Given the description of an element on the screen output the (x, y) to click on. 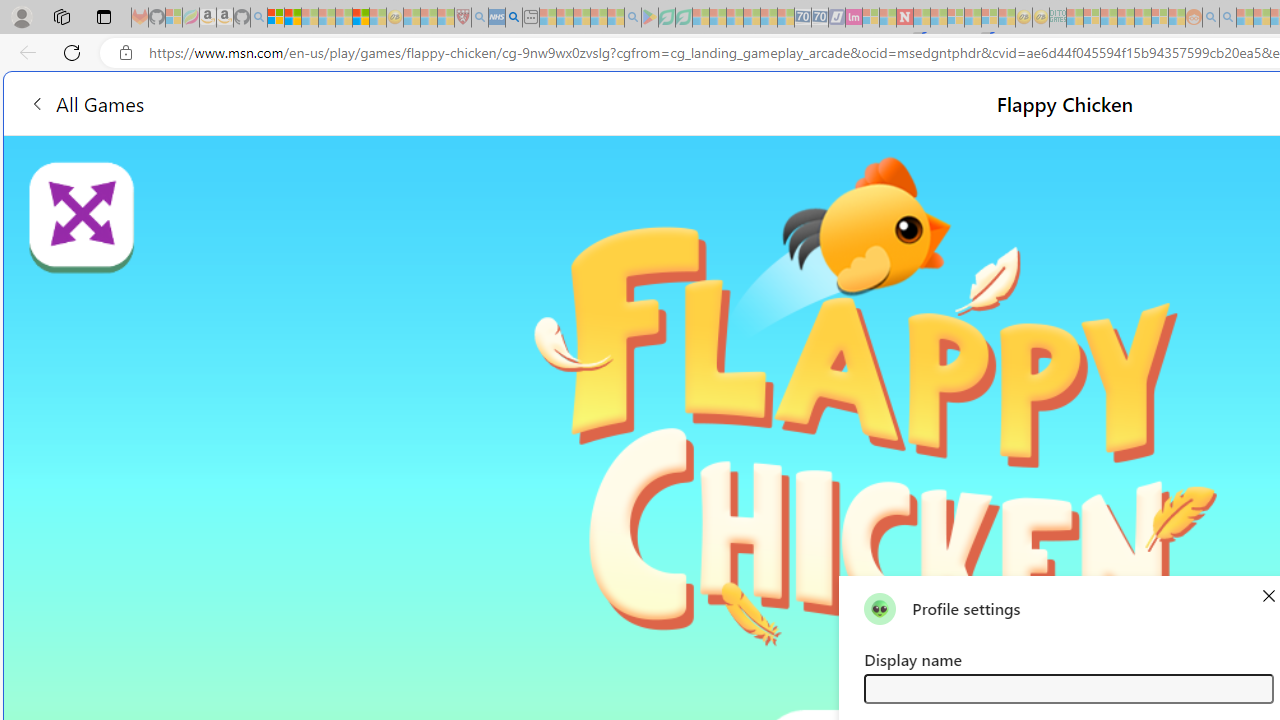
The Weather Channel - MSN - Sleeping (309, 17)
DITOGAMES AG Imprint - Sleeping (1057, 17)
MSNBC - MSN - Sleeping (1074, 17)
Class: text-input (1068, 688)
All Games (373, 102)
